Given the description of an element on the screen output the (x, y) to click on. 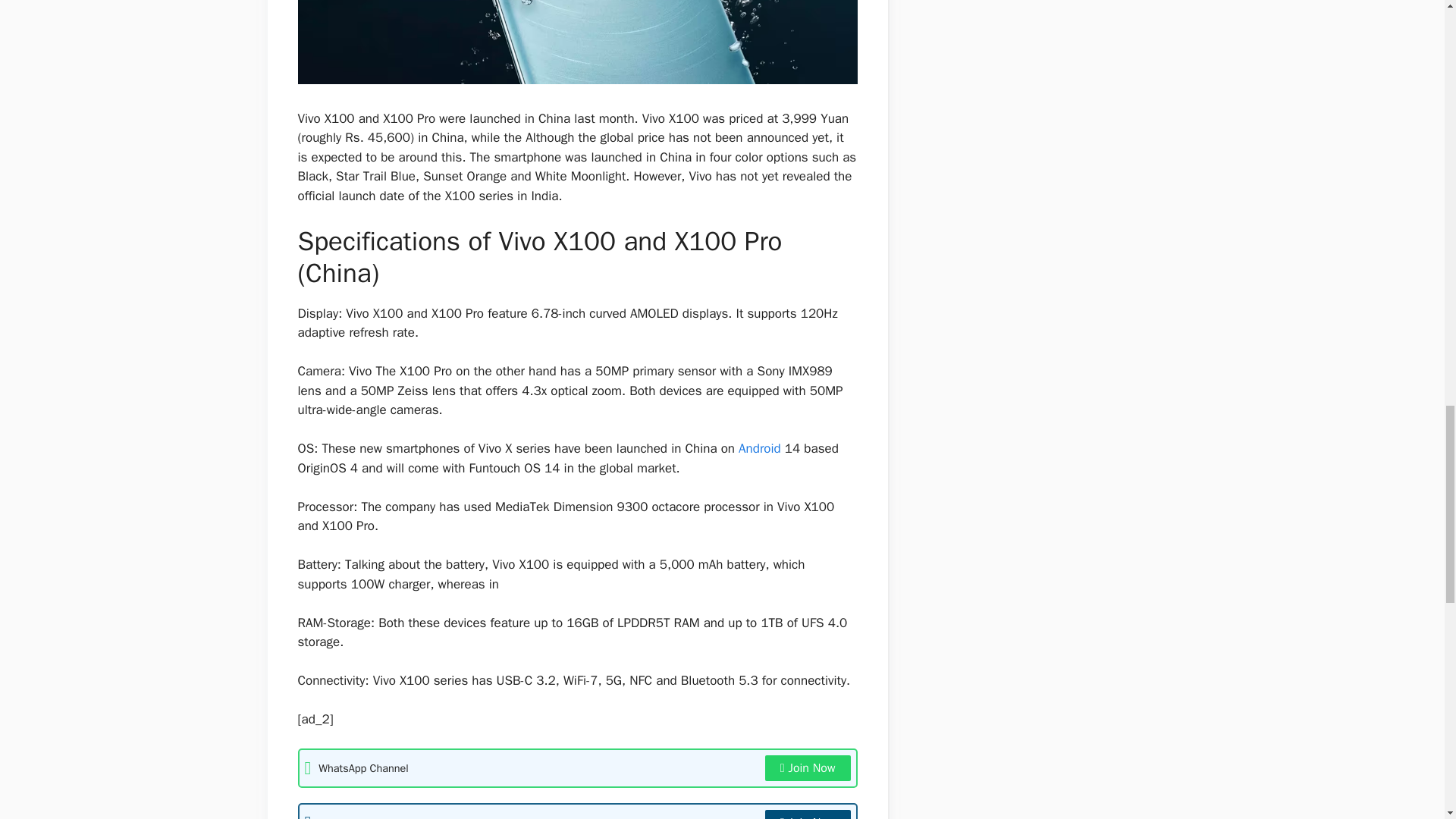
Join Now (807, 814)
Android (759, 448)
Join Now (807, 768)
